Given the description of an element on the screen output the (x, y) to click on. 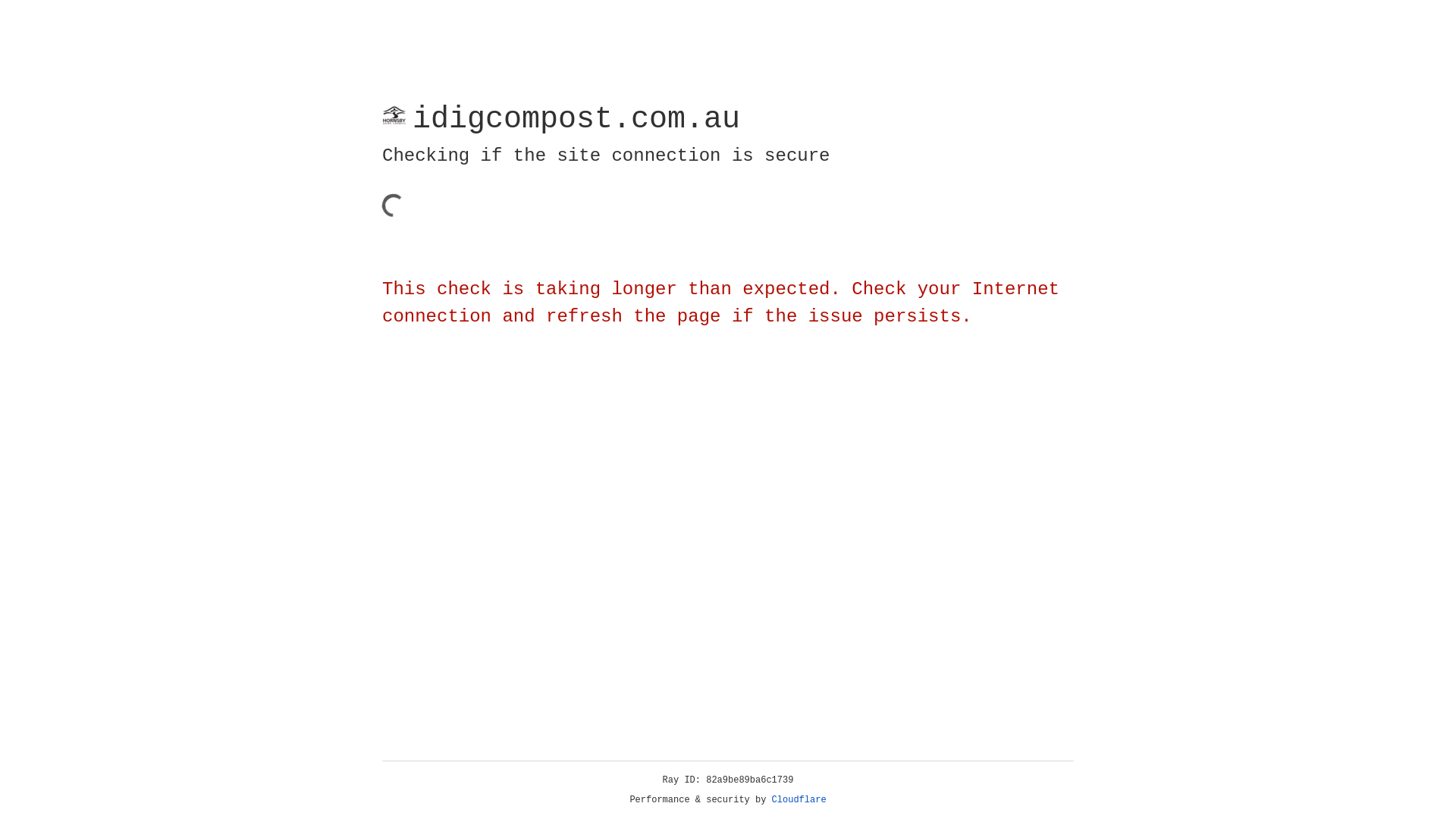
Cloudflare Element type: text (798, 799)
